Given the description of an element on the screen output the (x, y) to click on. 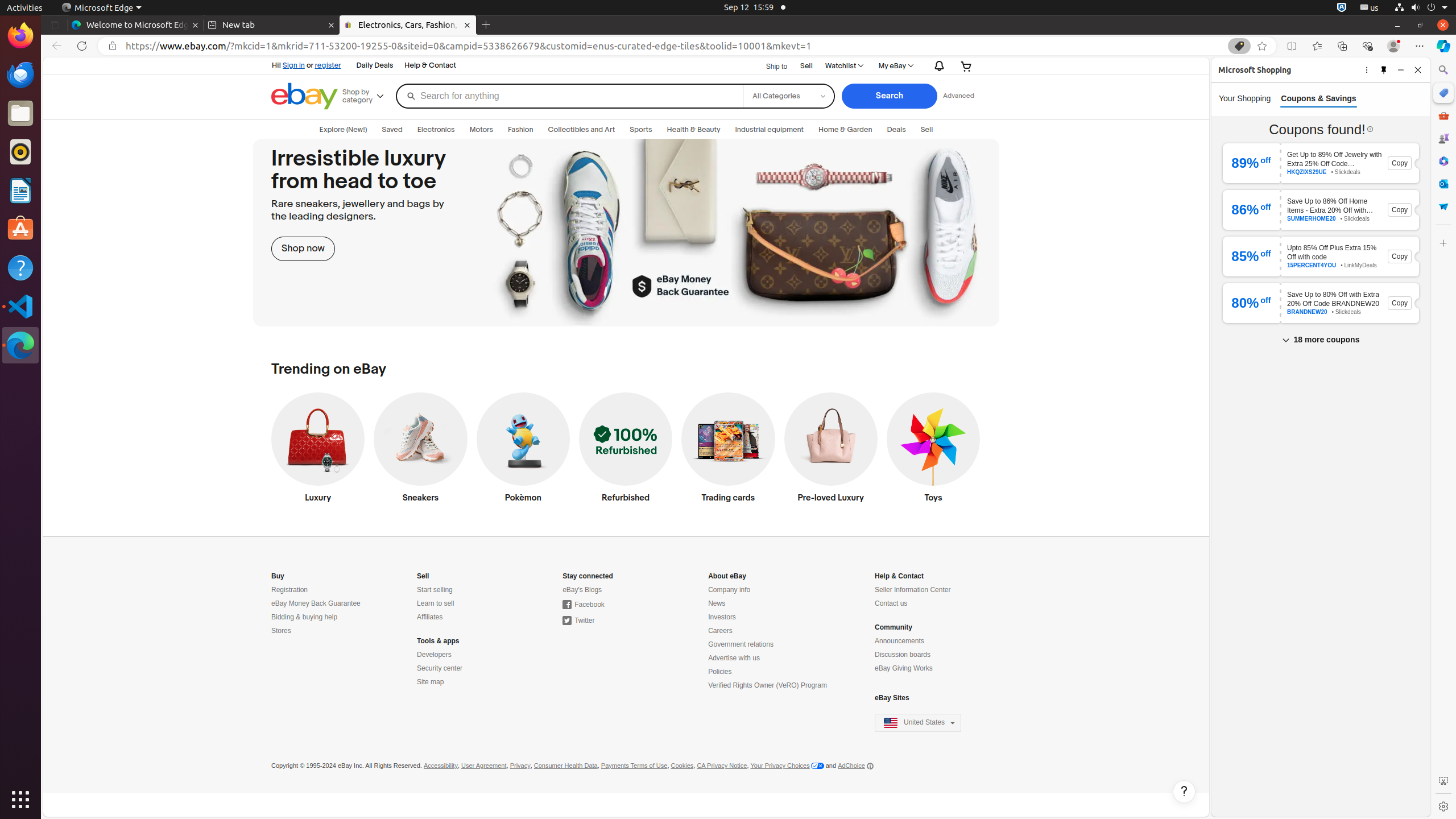
Outlook Element type: push-button (1443, 183)
Close tab Element type: push-button (195, 25)
Collections Element type: push-button (1341, 45)
Favorites Element type: push-button (1316, 45)
Coupons & Savings Element type: scroll-pane (1320, 233)
